Given the description of an element on the screen output the (x, y) to click on. 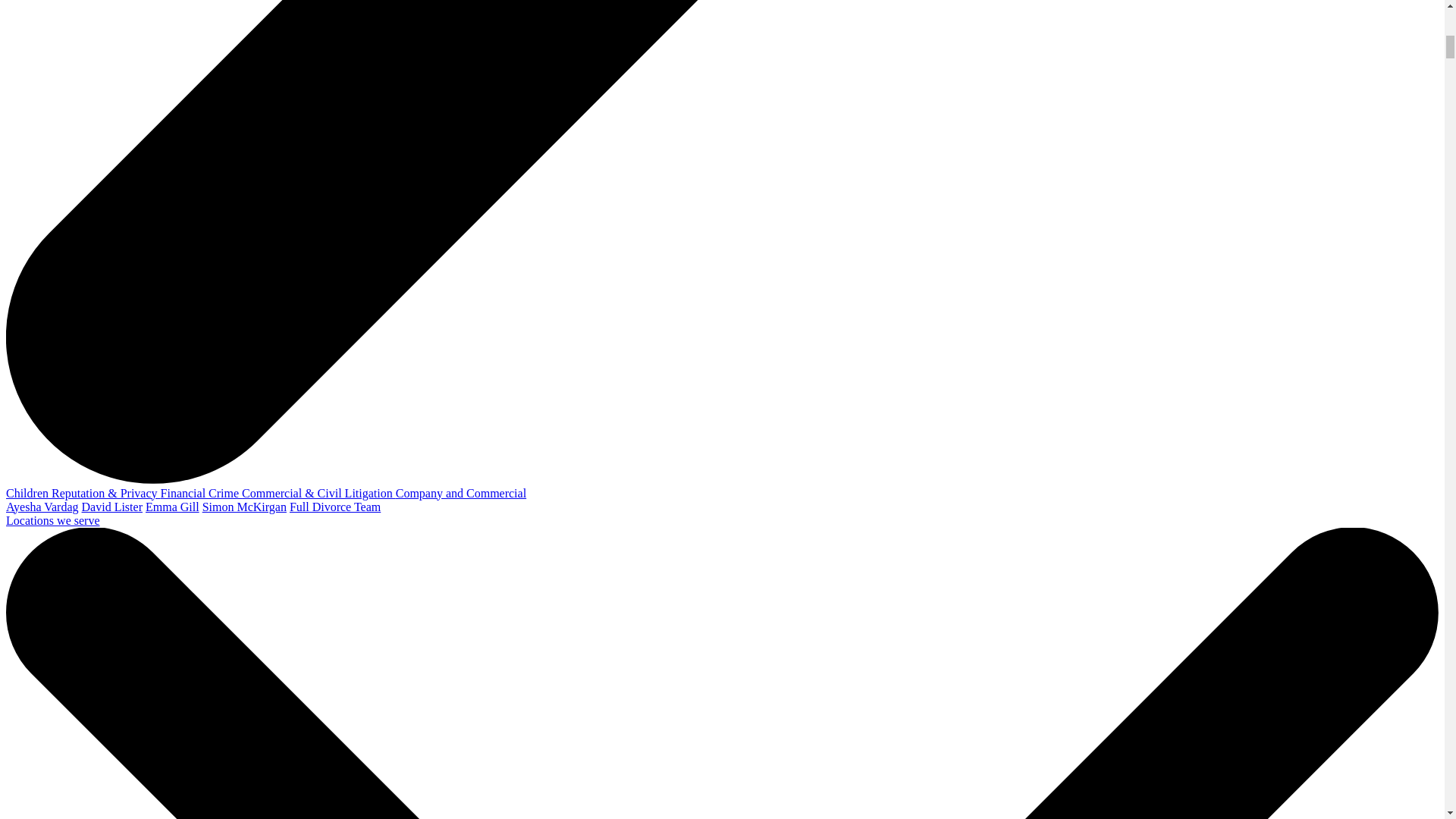
Financial Crime (201, 492)
Emma Gill (172, 506)
Children (27, 492)
Simon McKirgan (244, 506)
Ayesha Vardag (41, 506)
Full Divorce Team (334, 506)
David Lister (111, 506)
Full Divorce Team (334, 506)
Financial Crime (201, 492)
Emma Gill (172, 506)
Simon McKirgan (244, 506)
David Lister (111, 506)
Ayesha Vardag (41, 506)
Company and Commercial (460, 492)
Company and Commercial (460, 492)
